Given the description of an element on the screen output the (x, y) to click on. 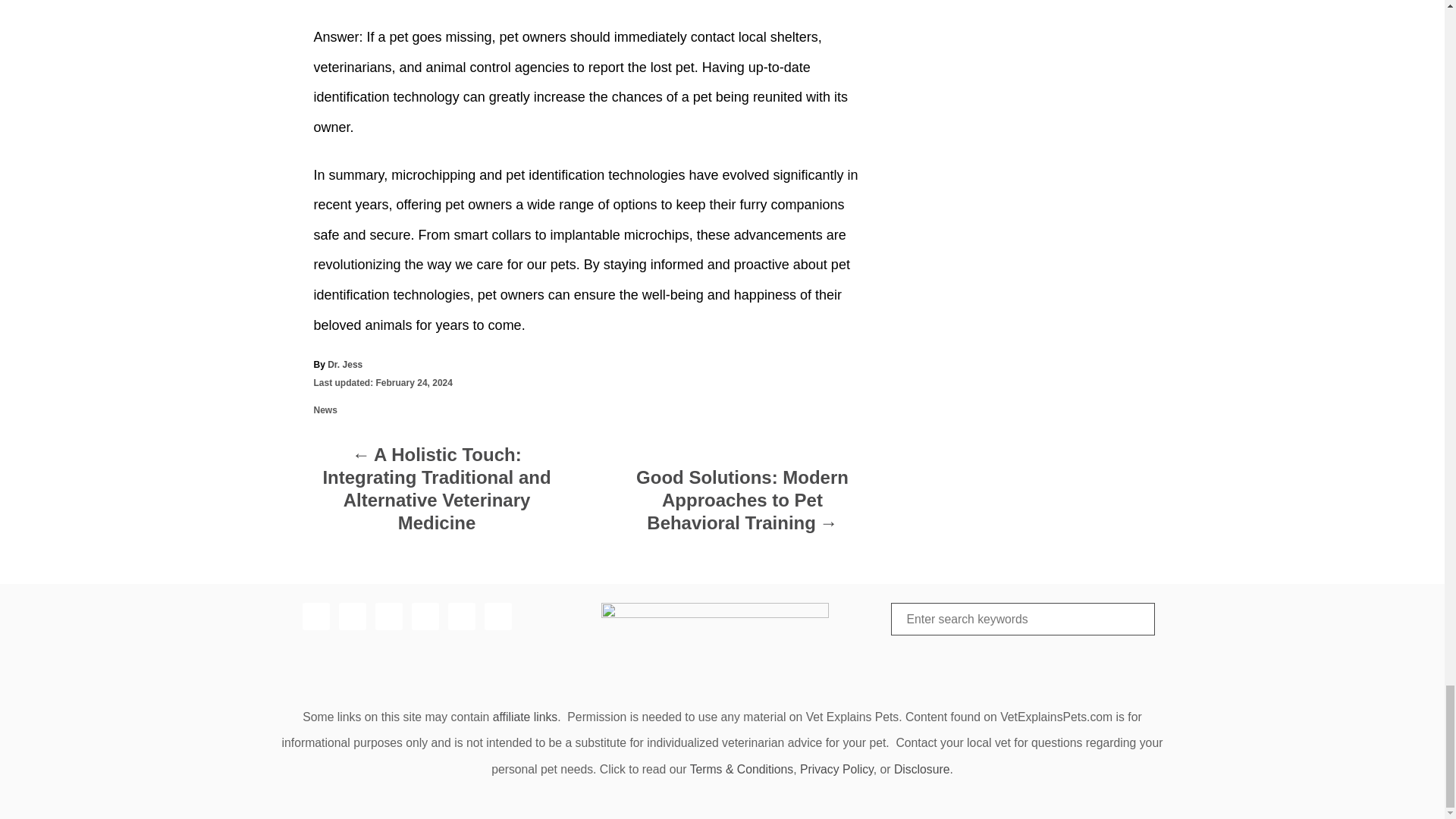
News (325, 409)
Search for: (1021, 617)
Dr. Jess (344, 364)
Good Solutions: Modern Approaches to Pet Behavioral Training (741, 503)
